Given the description of an element on the screen output the (x, y) to click on. 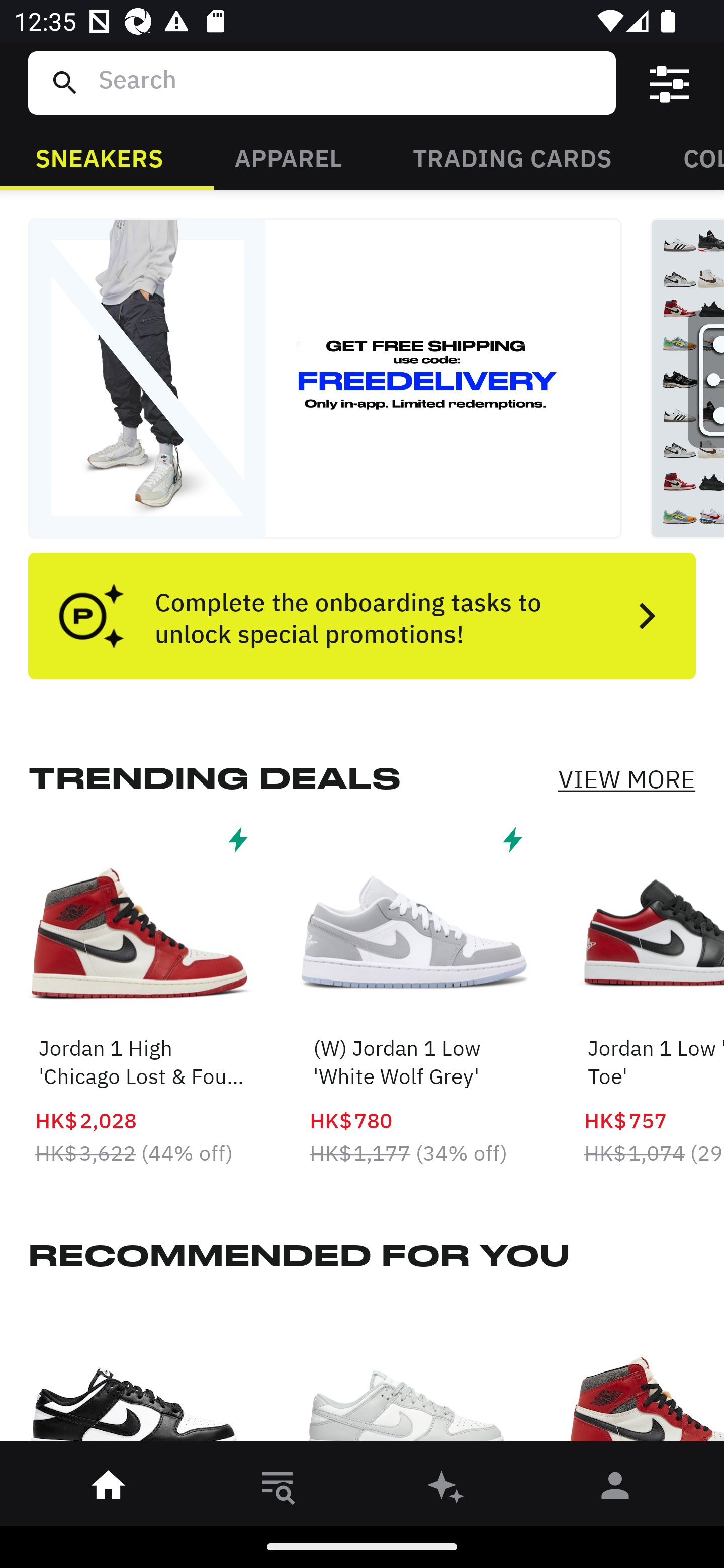
Search (349, 82)
 (669, 82)
SNEAKERS (99, 156)
APPAREL (287, 156)
TRADING CARDS (512, 156)
VIEW MORE (626, 779)
󰋜 (108, 1488)
󱎸 (277, 1488)
󰫢 (446, 1488)
󰀄 (615, 1488)
